Given the description of an element on the screen output the (x, y) to click on. 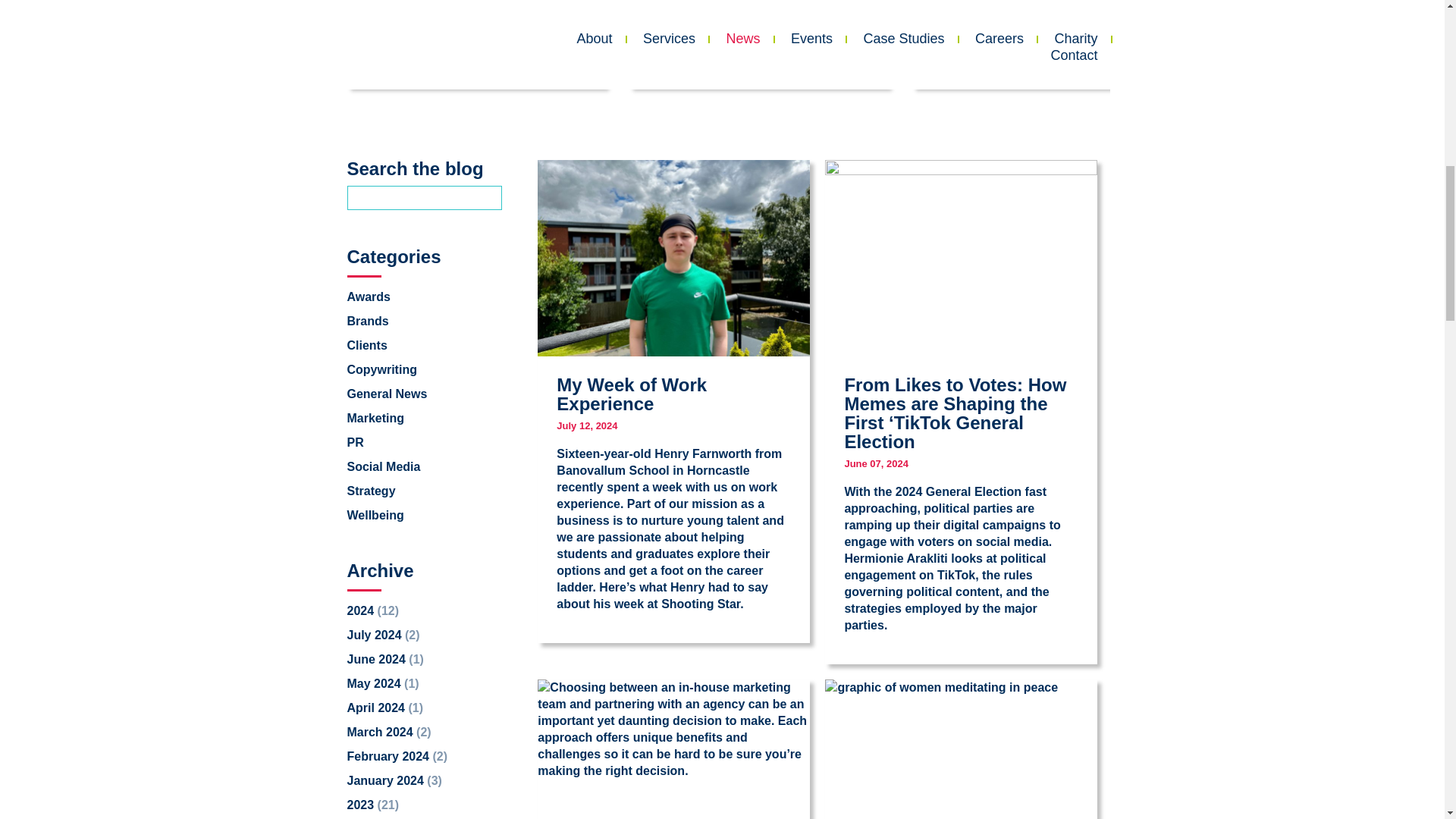
How many hats are you wearing? Too many hats!  (1041, 43)
Strategy (371, 490)
Marketing (375, 417)
General News (387, 392)
Clients (367, 344)
Copywriting (381, 368)
Wellbeing (375, 513)
Brands (367, 319)
PR (355, 440)
Awards (369, 295)
Social Media (383, 465)
